Given the description of an element on the screen output the (x, y) to click on. 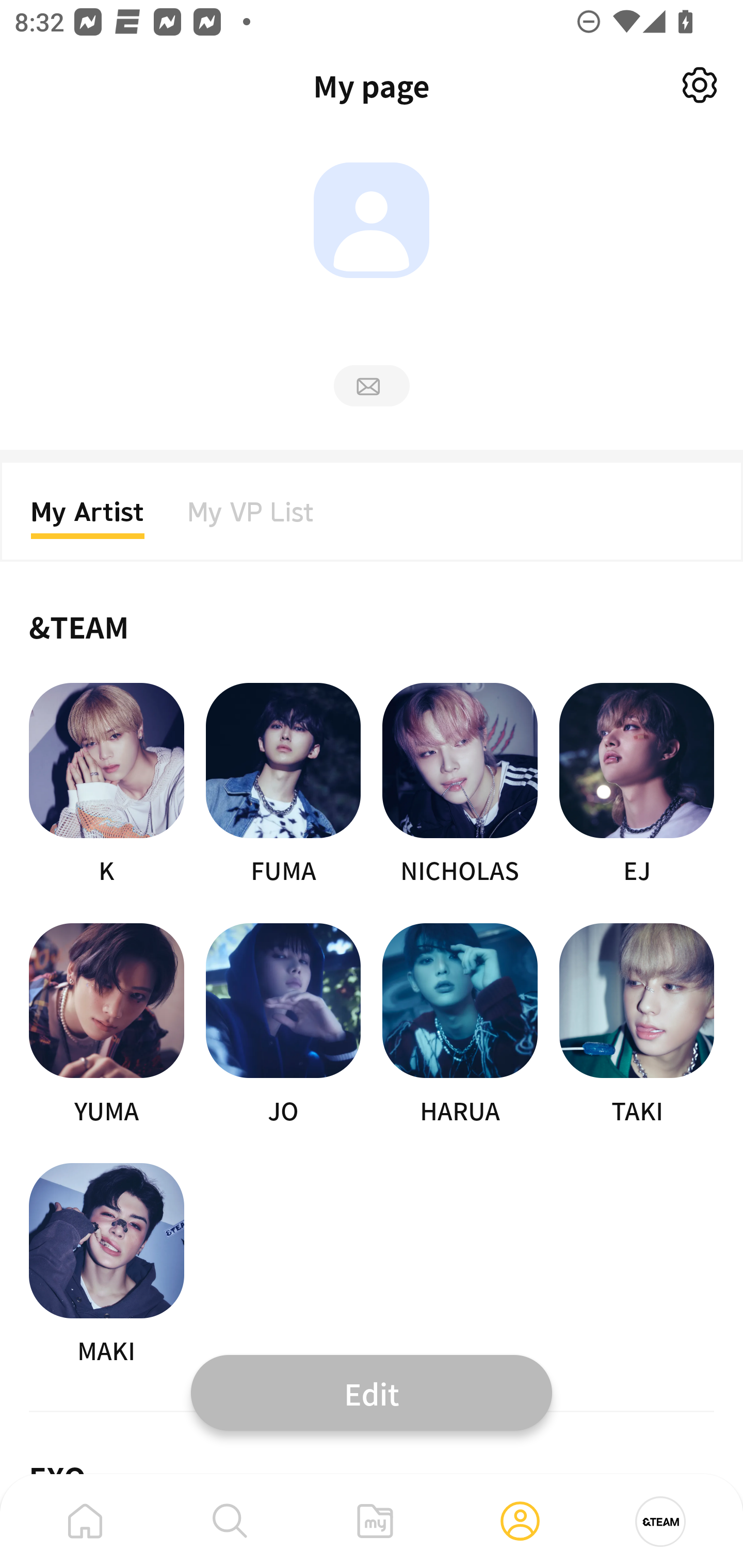
My Artist (87, 517)
My VP List (250, 517)
K (106, 785)
FUMA (282, 785)
NICHOLAS (459, 785)
EJ (636, 785)
YUMA (106, 1025)
JO (282, 1025)
HARUA (459, 1025)
TAKI (636, 1025)
MAKI (106, 1265)
Edit (371, 1392)
